Given the description of an element on the screen output the (x, y) to click on. 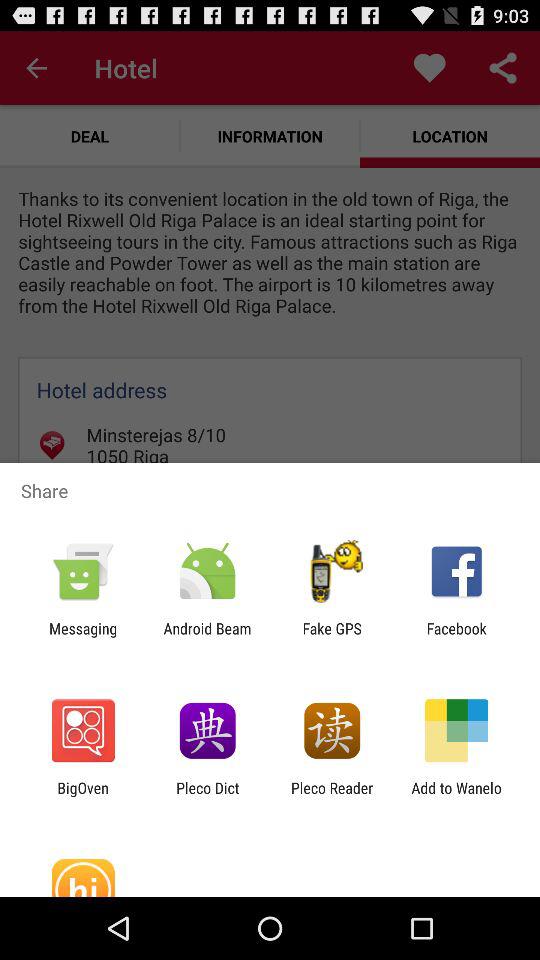
turn off the icon to the left of the pleco reader (207, 796)
